Given the description of an element on the screen output the (x, y) to click on. 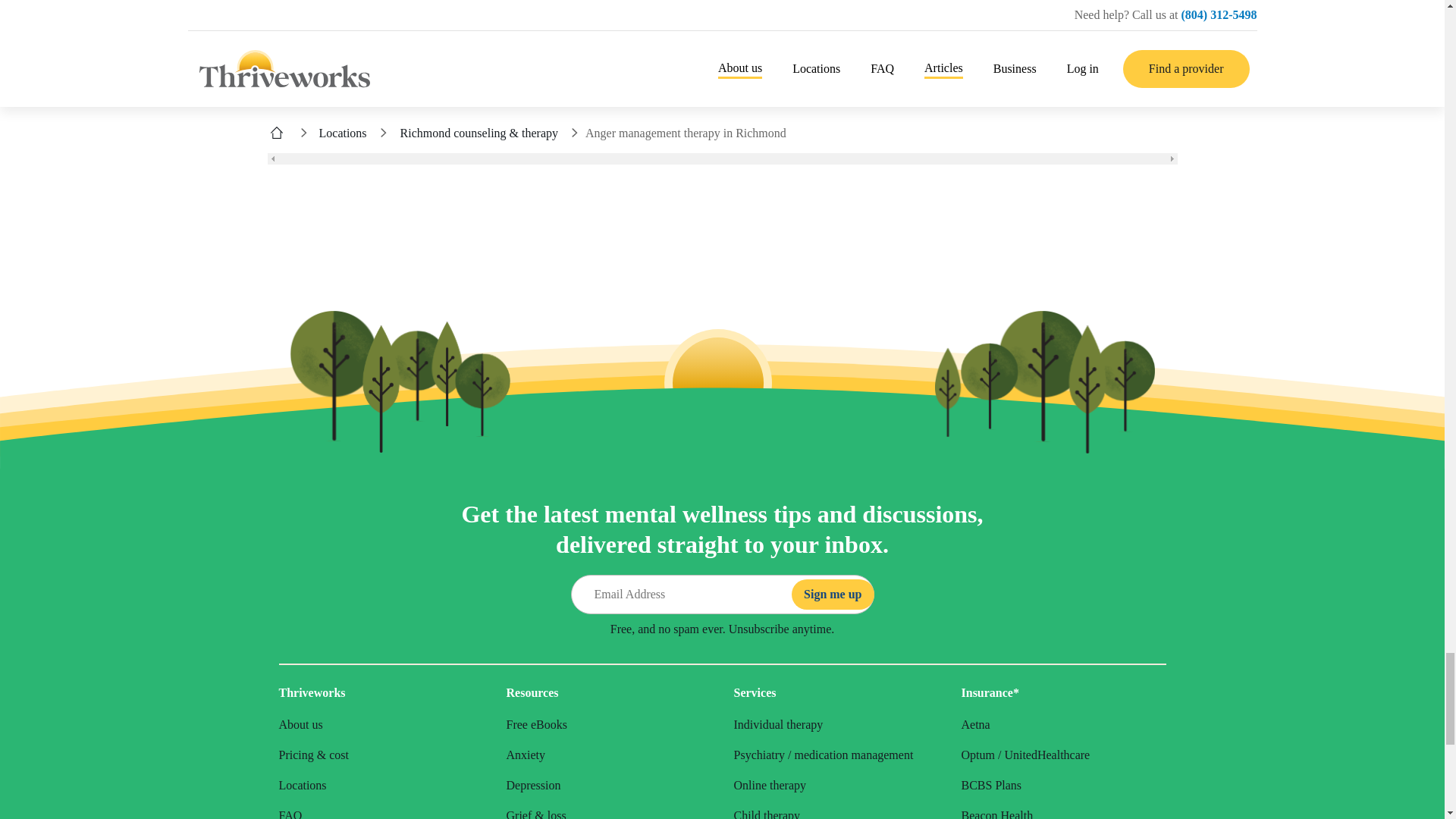
Sign me up (832, 594)
